Given the description of an element on the screen output the (x, y) to click on. 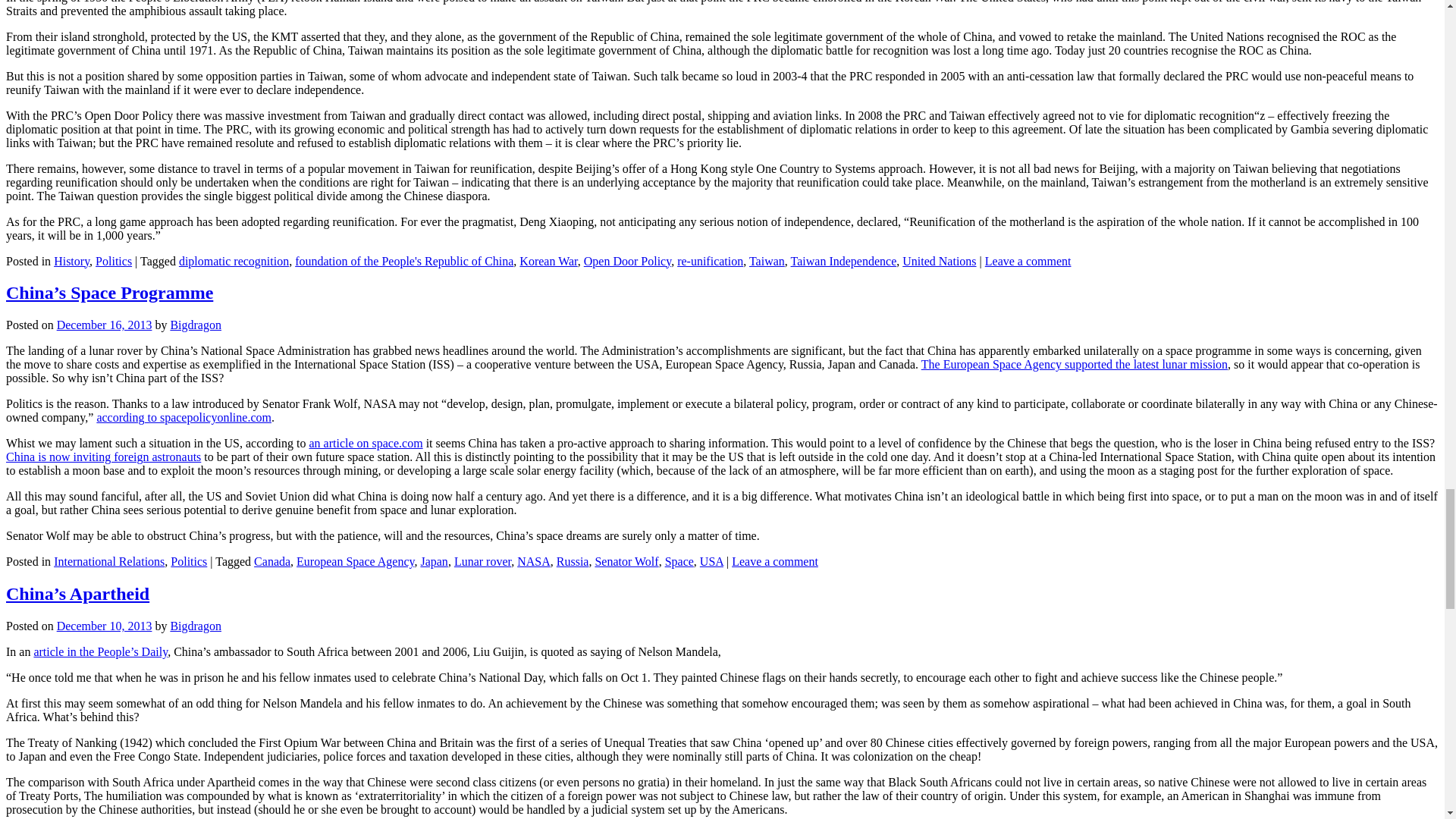
6:10 pm (104, 324)
